Given the description of an element on the screen output the (x, y) to click on. 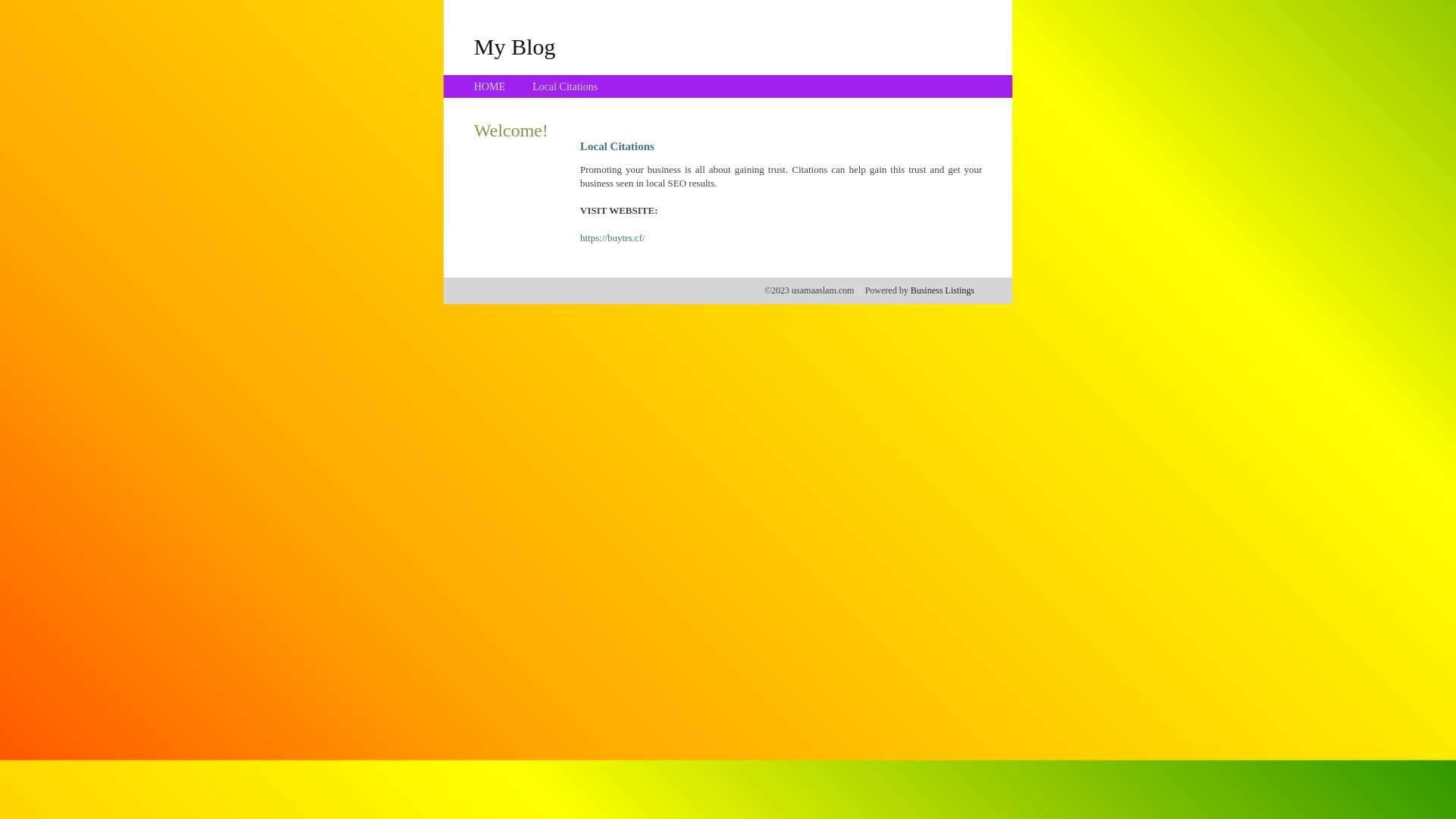
HOME Element type: text (489, 86)
My Blog Element type: text (514, 46)
Business Listings Element type: text (942, 290)
https://buytrs.cf/ Element type: text (612, 237)
Local Citations Element type: text (564, 86)
